Given the description of an element on the screen output the (x, y) to click on. 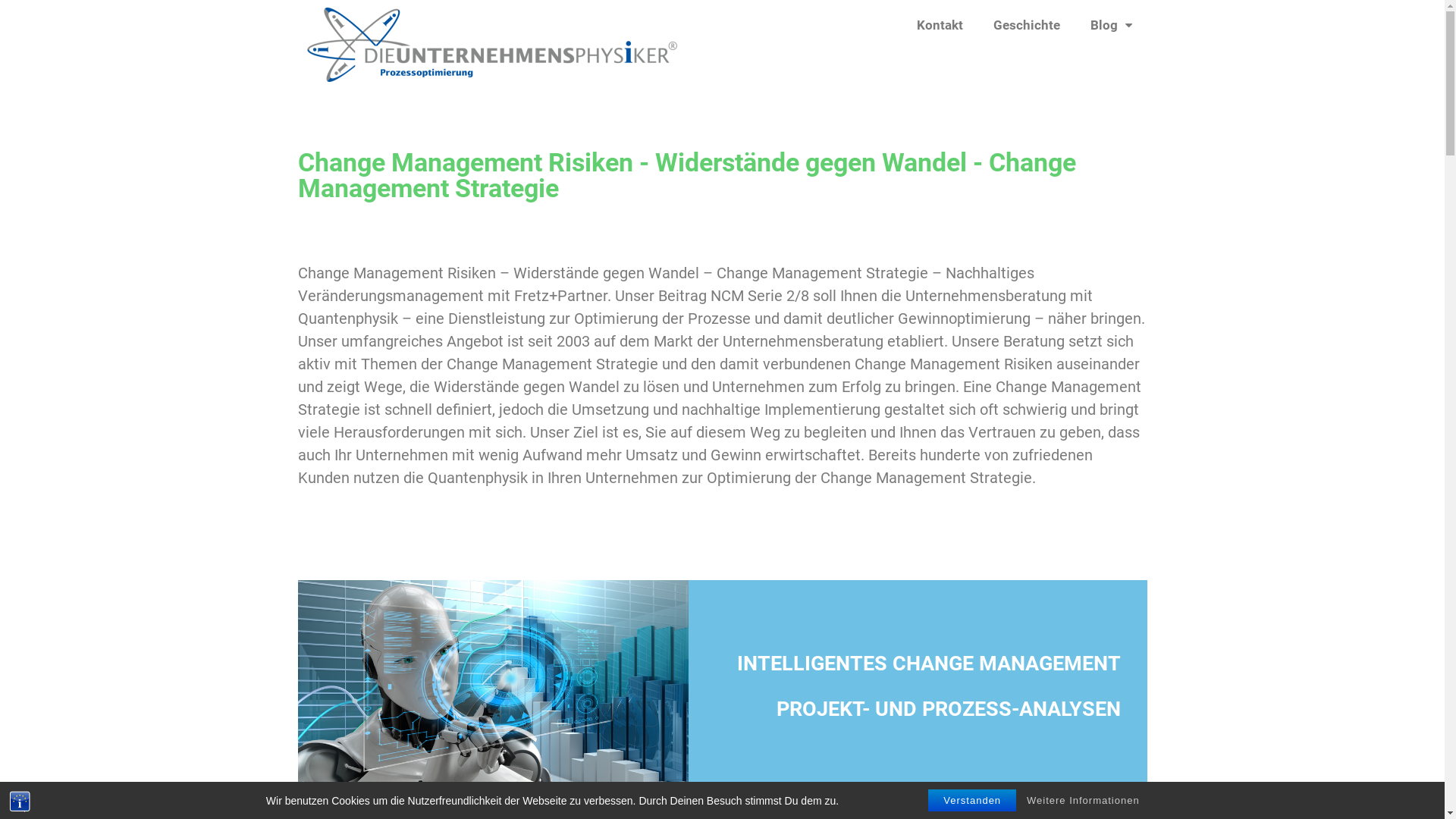
Verstanden Element type: text (972, 800)
Verstanden Element type: text (971, 800)
KONTAKT Element type: text (722, 649)
Weitere Informationen Element type: text (1083, 800)
Kontakt Element type: text (938, 24)
Blog Element type: text (1111, 24)
Geschichte Element type: text (1026, 24)
Die Unternehmensphysiker Prozessoptimierung Logo Element type: hover (486, 44)
